Given the description of an element on the screen output the (x, y) to click on. 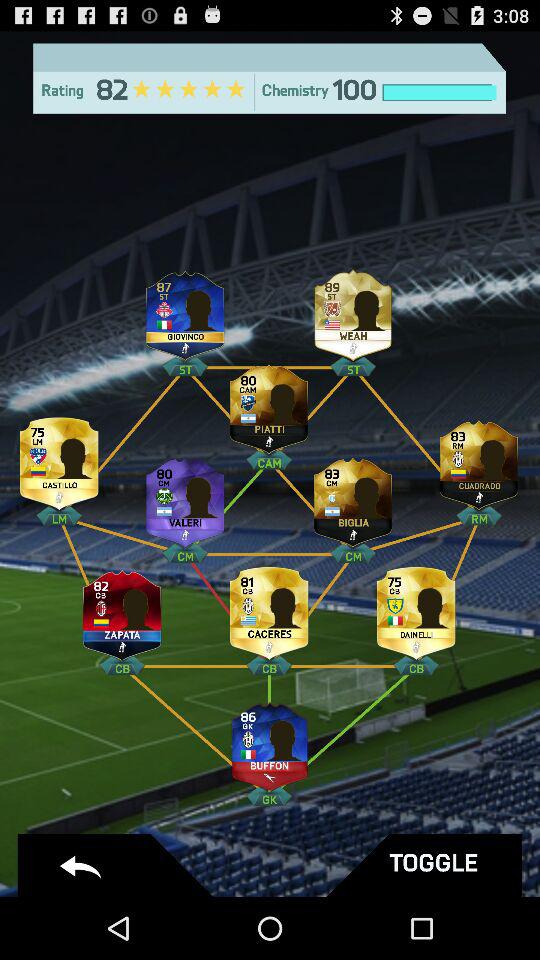
select player in st position (353, 310)
